Given the description of an element on the screen output the (x, y) to click on. 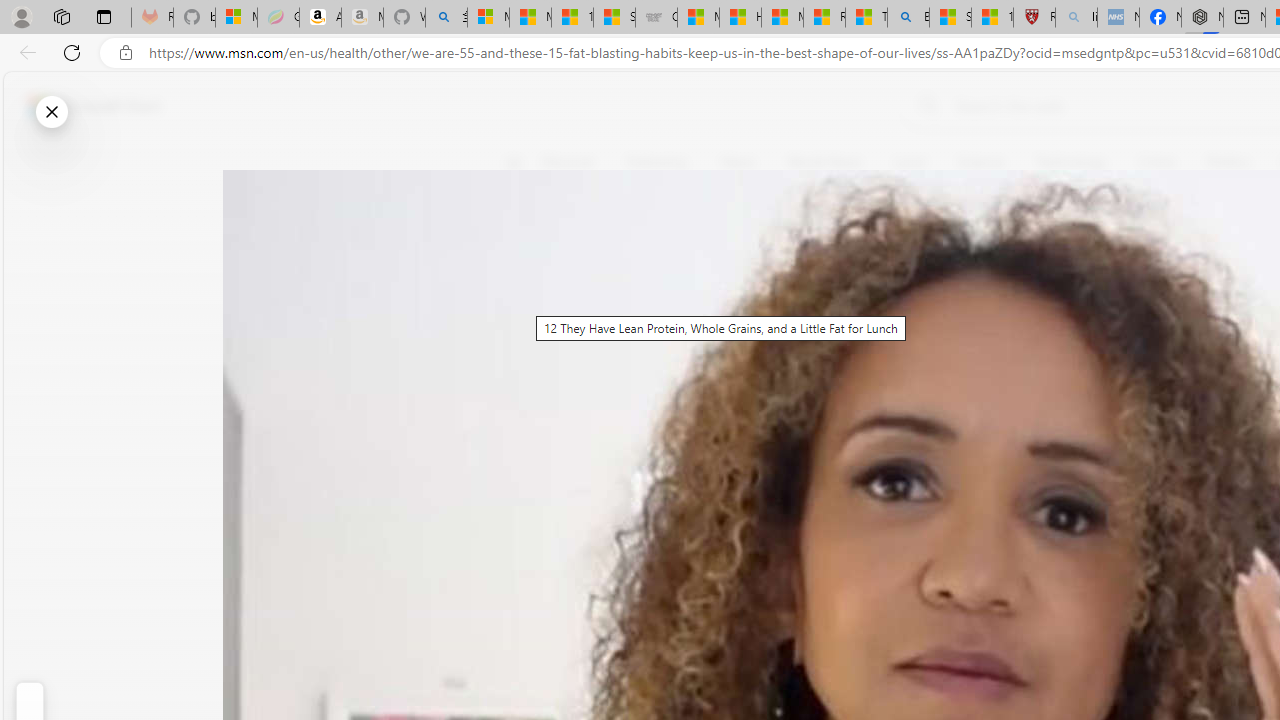
Robert H. Shmerling, MD - Harvard Health (1033, 17)
6 Like (525, 244)
Technology (1071, 162)
Recipes - MSN (823, 17)
Politics (1227, 162)
Crime (1156, 162)
